Given the description of an element on the screen output the (x, y) to click on. 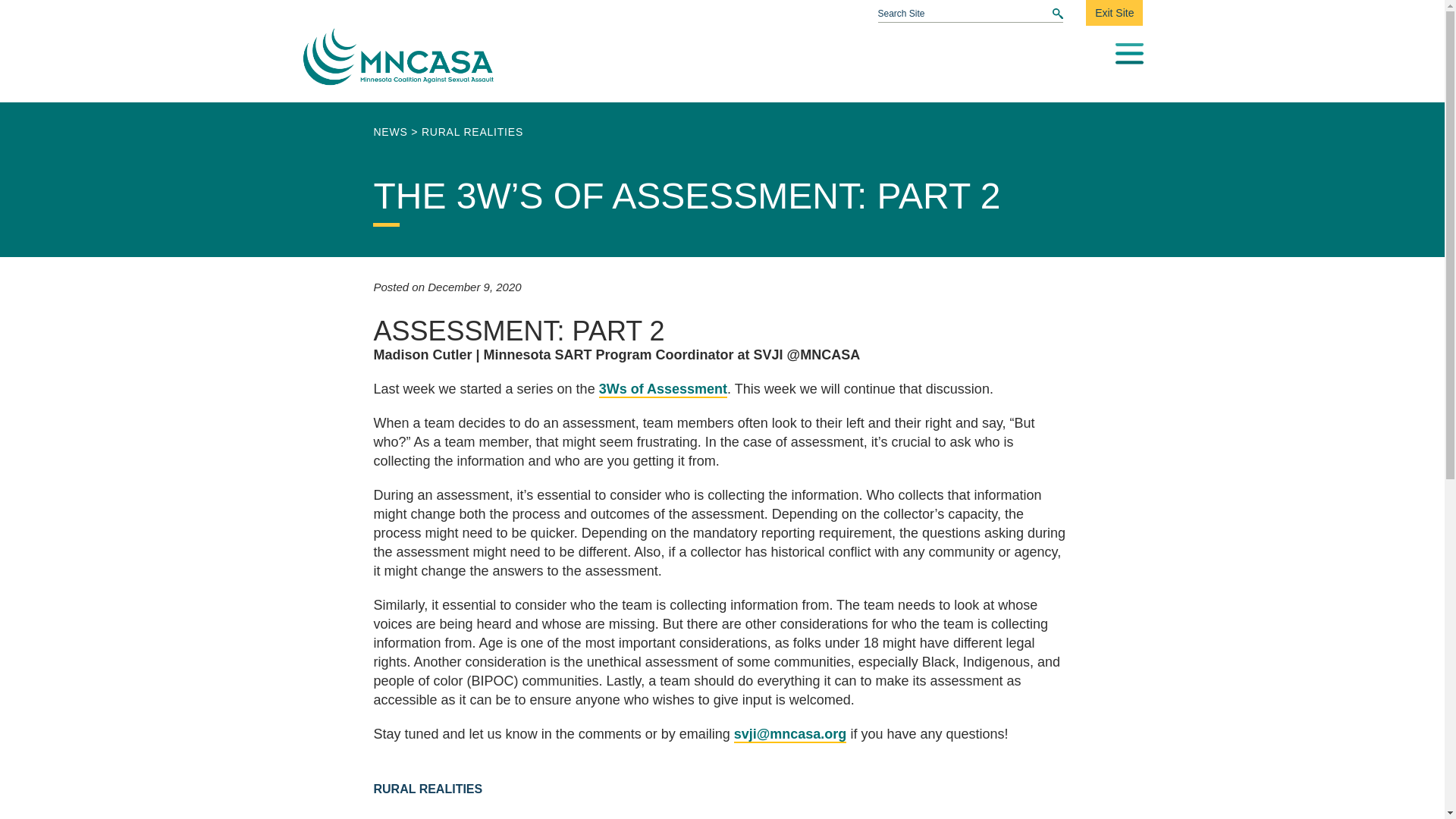
Go to the Rural Realities category archives. (472, 132)
Go to News. (389, 132)
